Given the description of an element on the screen output the (x, y) to click on. 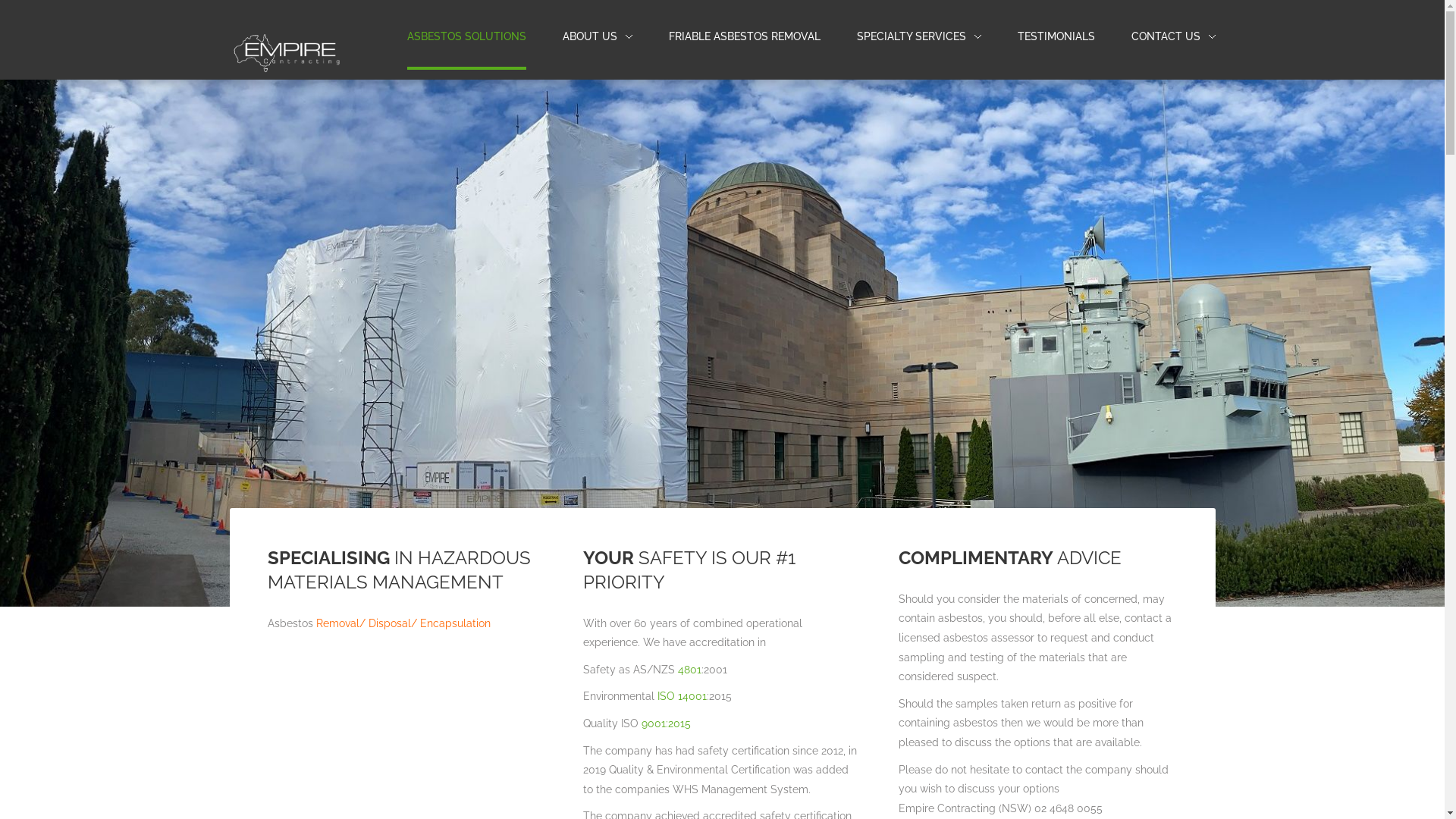
TESTIMONIALS Element type: text (1056, 36)
Slide7 Element type: text (754, 568)
CONTACT US Element type: text (1173, 37)
SPECIALTY SERVICES Element type: text (918, 37)
4801 Element type: text (689, 668)
9001:2015  Element type: text (667, 722)
ISO 14001 Element type: text (681, 695)
ABOUT US Element type: text (589, 36)
ASBESTOS SOLUTIONS Element type: text (465, 36)
FRIABLE ASBESTOS REMOVAL Element type: text (744, 36)
ASBESTOS SOLUTIONS Element type: text (465, 37)
ABOUT US Element type: text (597, 37)
Slide 3 Element type: text (725, 566)
FRIABLE ASBESTOS REMOVAL Element type: text (744, 37)
Australian War Memorial Stage 2 Containment Element type: text (701, 568)
TESTIMONIALS Element type: text (1056, 37)
SPECIALTY SERVICES Element type: text (911, 36)
CONTACT US Element type: text (1165, 36)
